Given the description of an element on the screen output the (x, y) to click on. 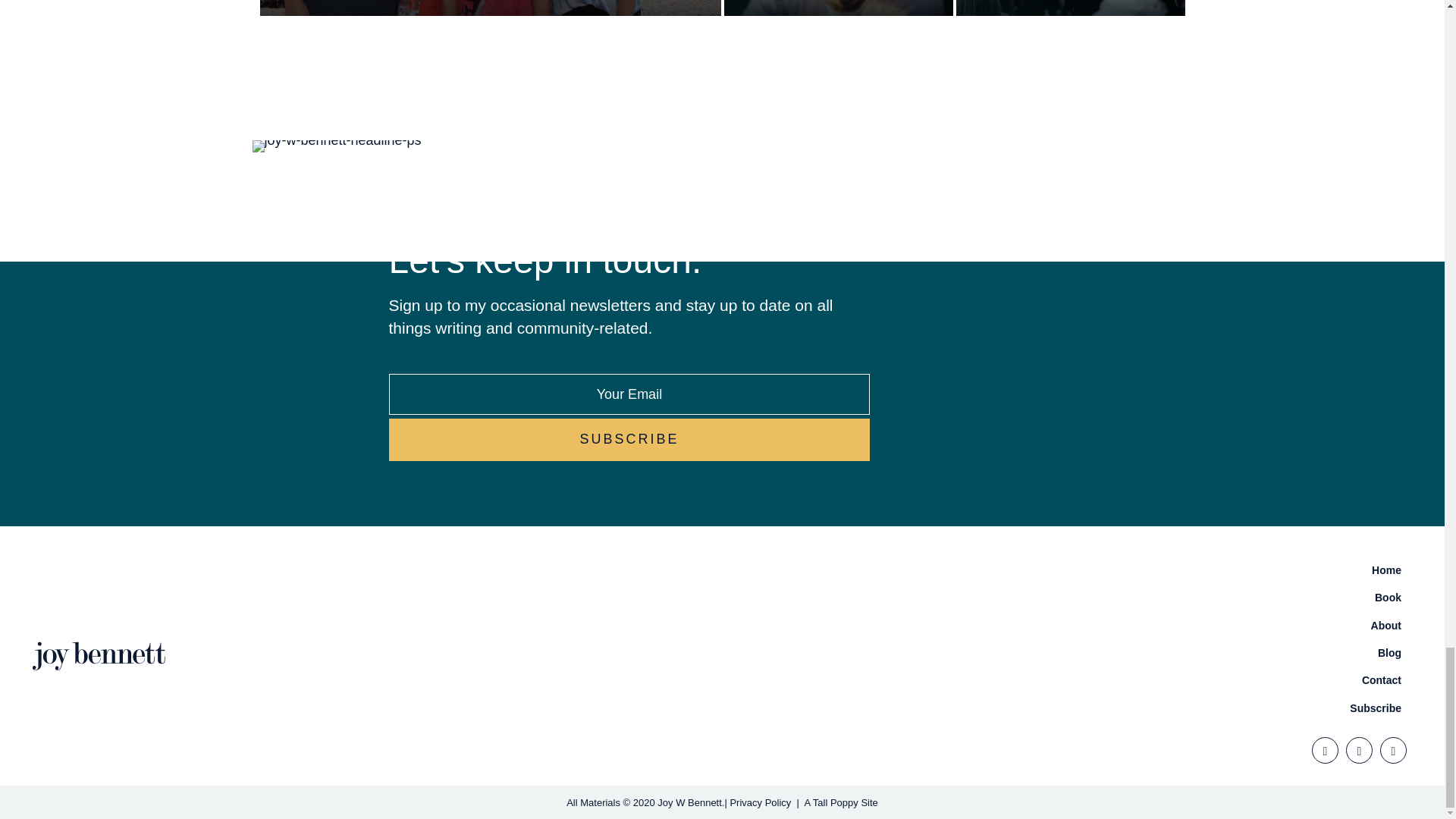
Subscribe (628, 439)
joy-w-bennett-headline-ps (335, 146)
Contact (1071, 679)
About (1071, 625)
Blog (1071, 652)
Book (1071, 596)
A Tall Poppy Site (840, 802)
Home (1071, 569)
Subscribe (628, 439)
